Given the description of an element on the screen output the (x, y) to click on. 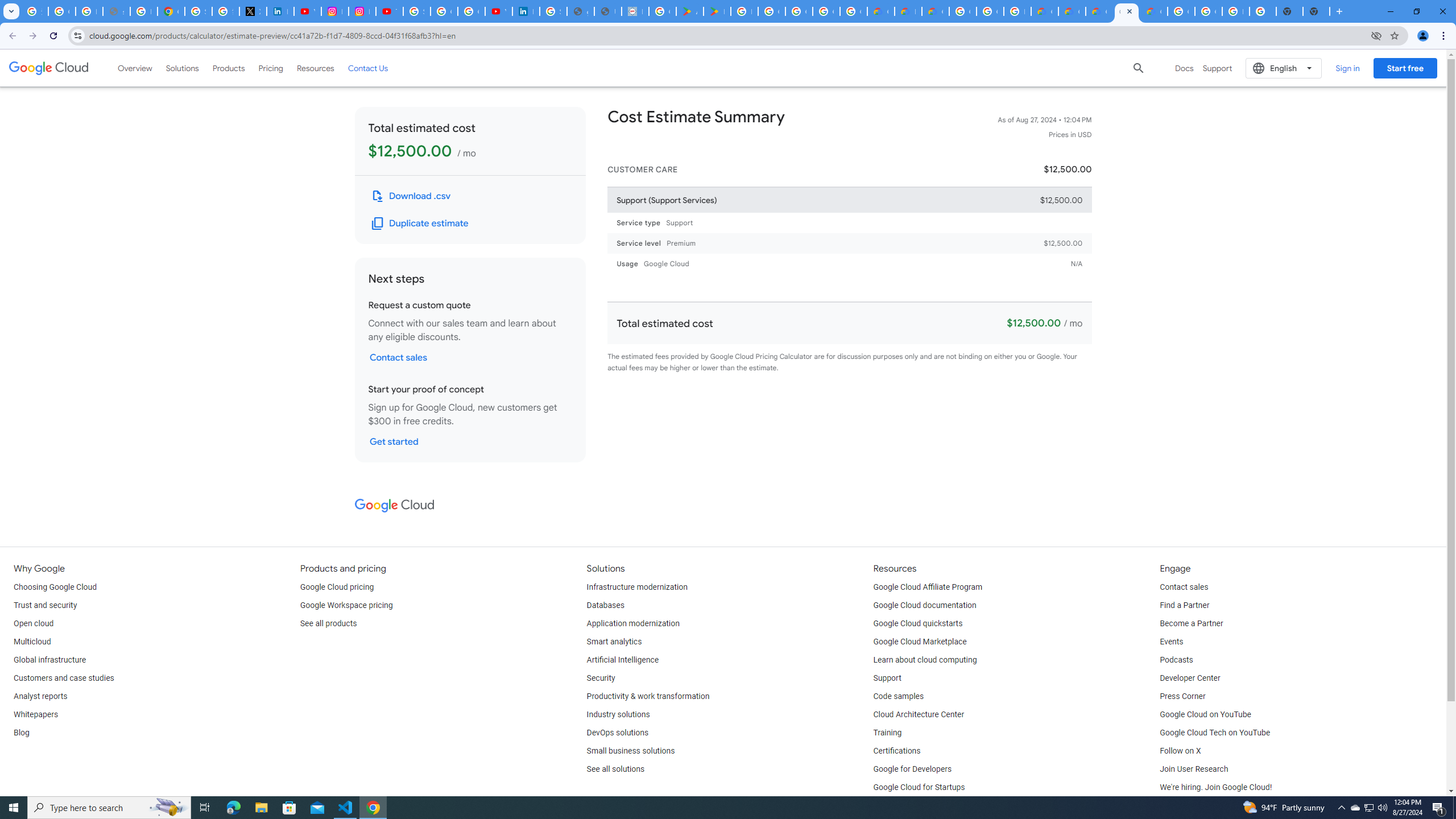
Global infrastructure (49, 660)
Open cloud (33, 624)
X (253, 11)
Solutions (181, 67)
Search (1139, 67)
Google Cloud Affiliate Program (927, 587)
Google Workspace - Specific Terms (826, 11)
Start free (1405, 67)
Events (1170, 642)
Smart analytics (614, 642)
Databases (605, 605)
Google Cloud documentation (924, 605)
